Given the description of an element on the screen output the (x, y) to click on. 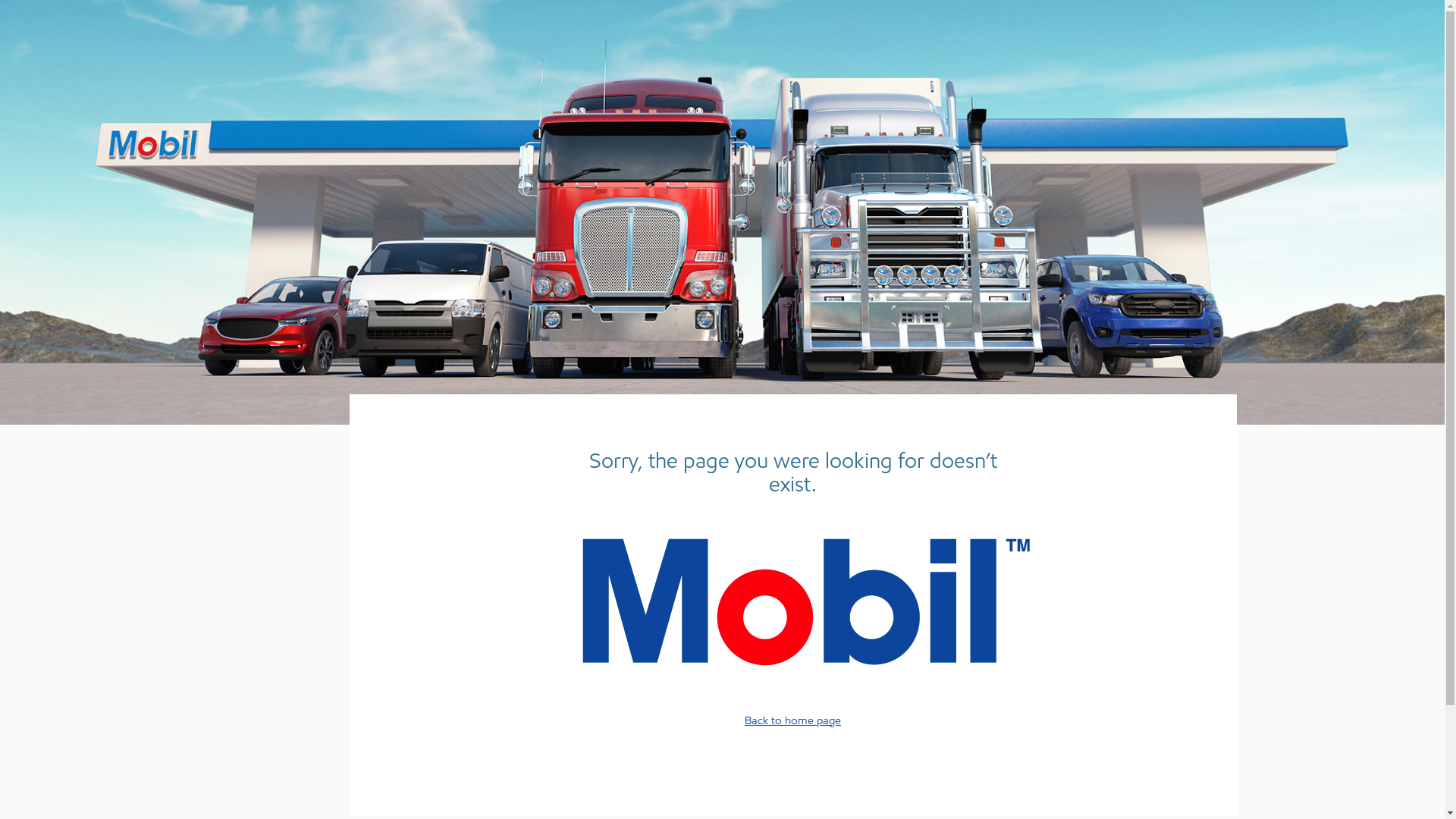
Back to home page Element type: text (792, 720)
